Given the description of an element on the screen output the (x, y) to click on. 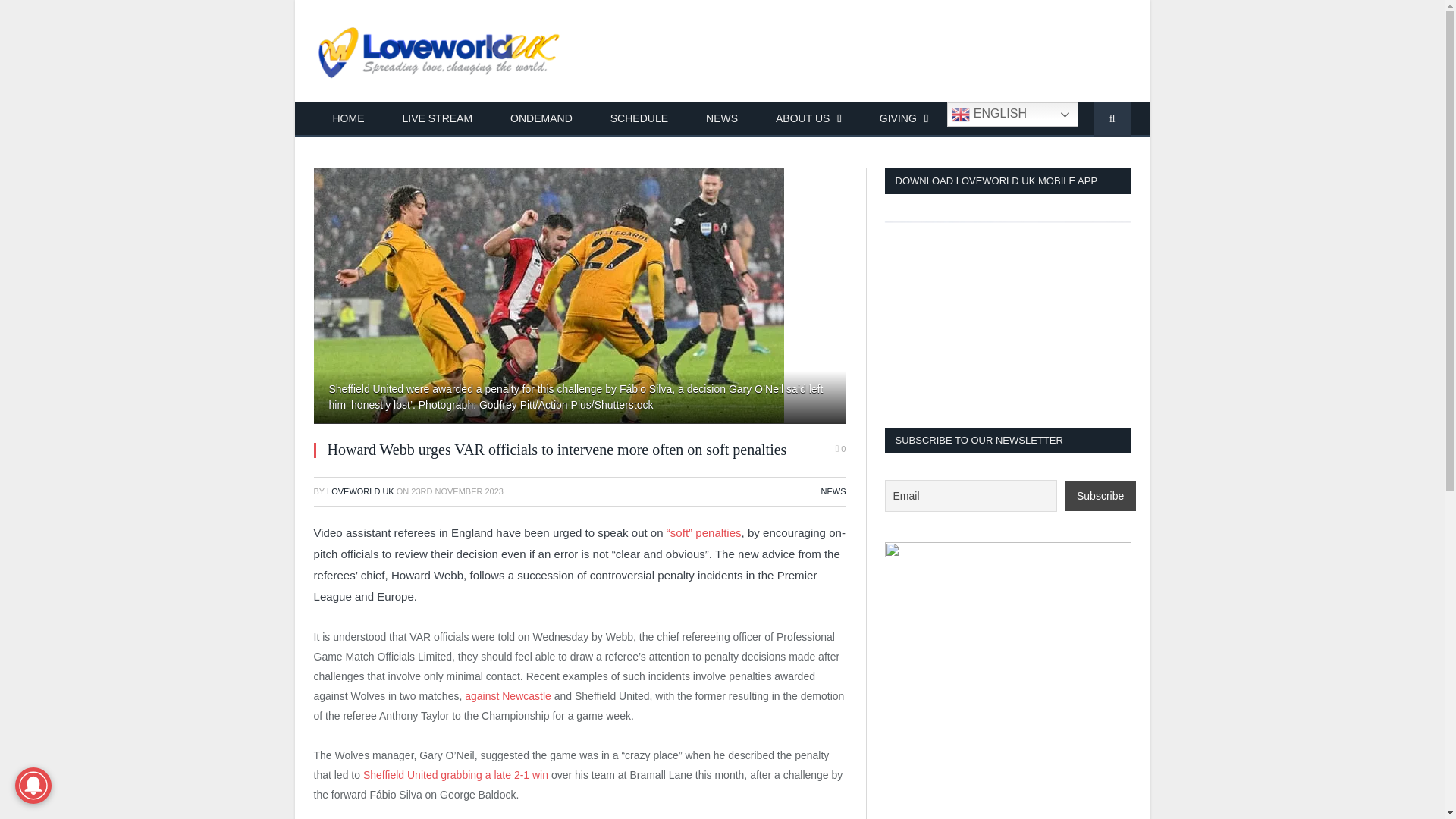
LIVE STREAM (438, 119)
ABOUT US (808, 119)
ENGLISH (1012, 114)
NEWS (722, 119)
SCHEDULE (639, 119)
Loveworld UK (440, 51)
ONDEMAND (541, 119)
GIVING (903, 119)
HOME (349, 119)
Subscribe (1099, 495)
